Given the description of an element on the screen output the (x, y) to click on. 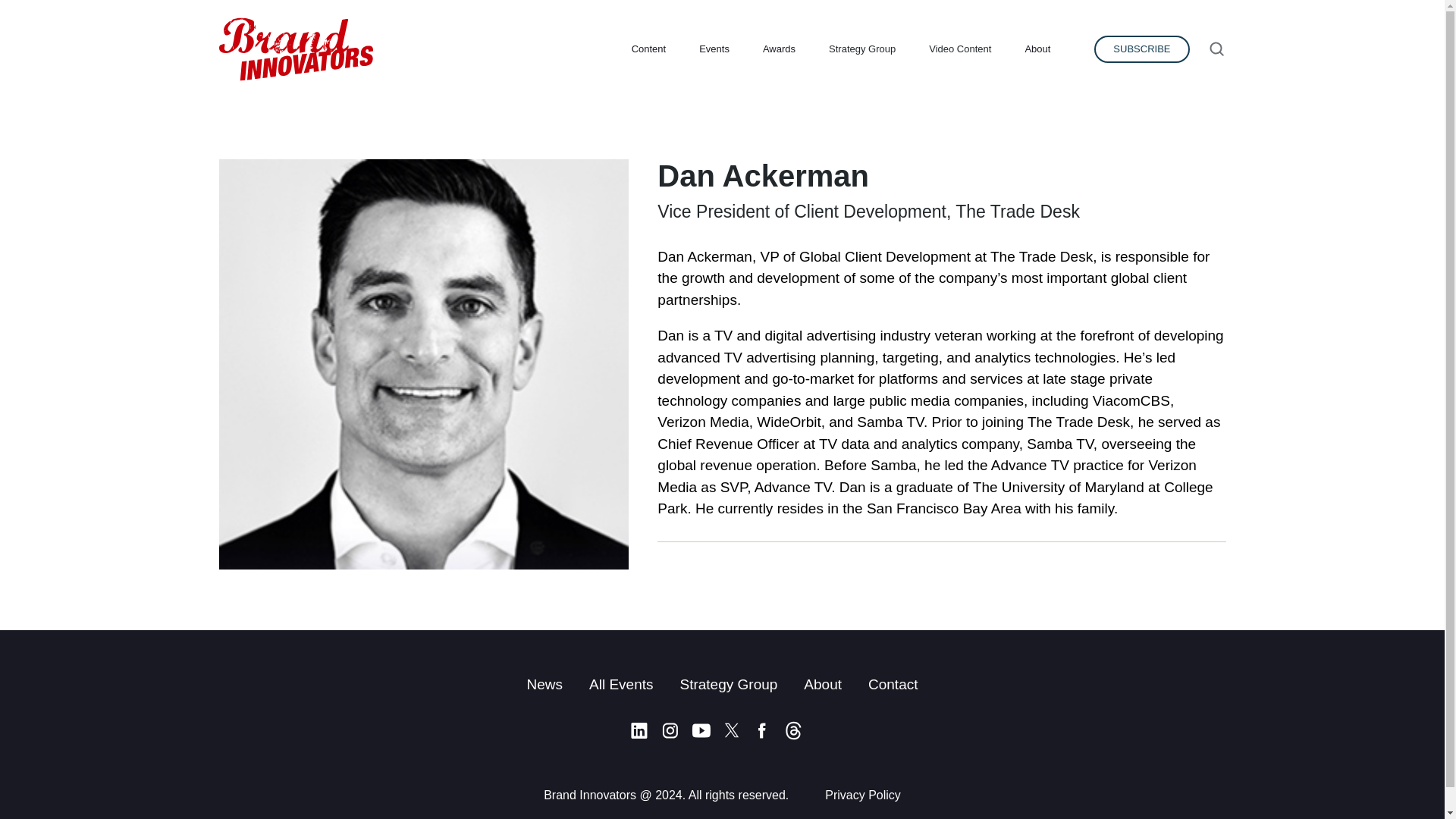
Strategy Group (728, 684)
Contact (892, 684)
News (543, 684)
Content (649, 49)
SUBSCRIBE (1141, 49)
Events (713, 49)
About (822, 684)
All Events (620, 684)
Video Content (959, 49)
About (1037, 49)
Awards (779, 49)
Strategy Group (861, 49)
